Given the description of an element on the screen output the (x, y) to click on. 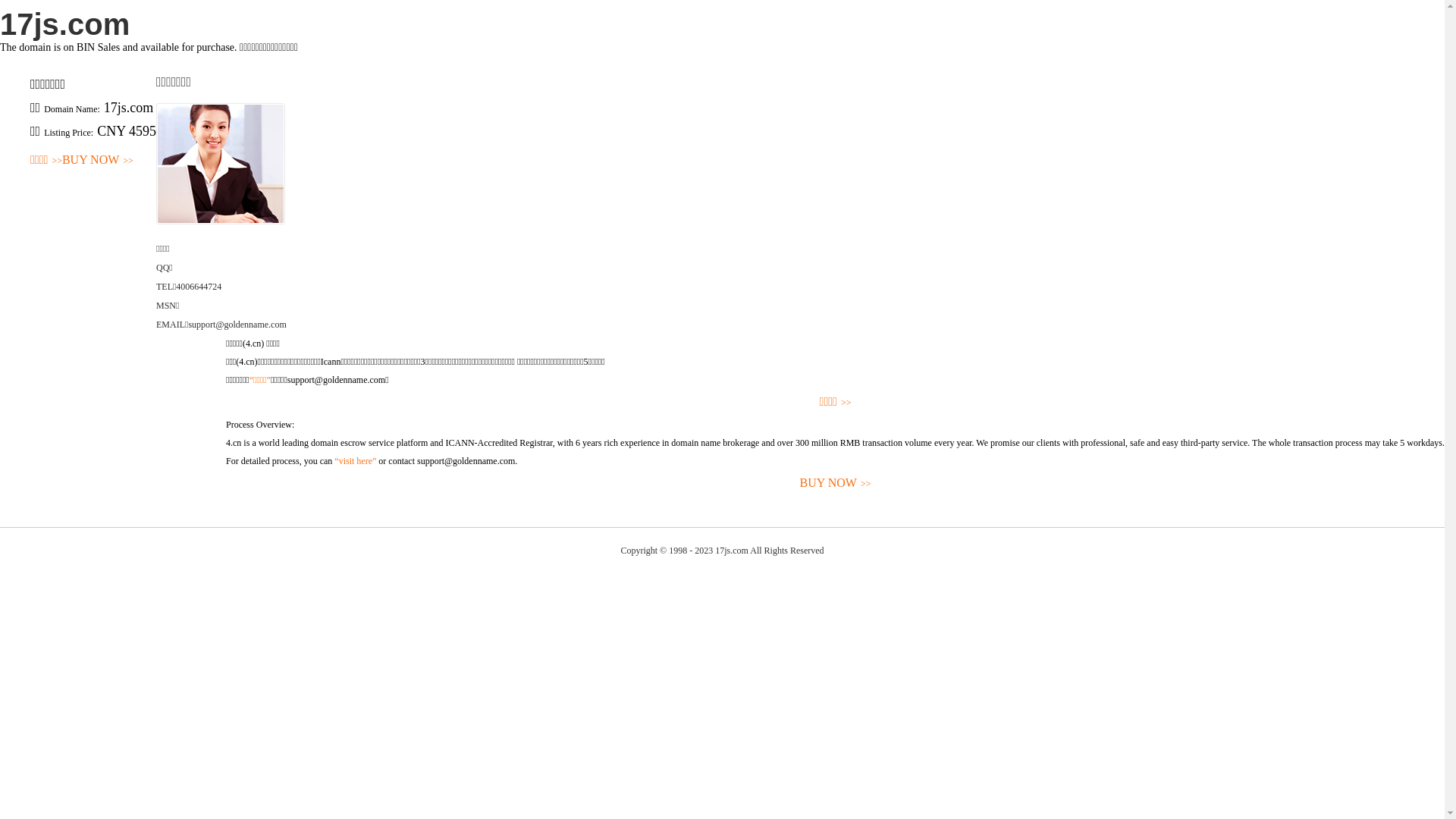
BUY NOW>> Element type: text (97, 160)
BUY NOW>> Element type: text (834, 483)
